Given the description of an element on the screen output the (x, y) to click on. 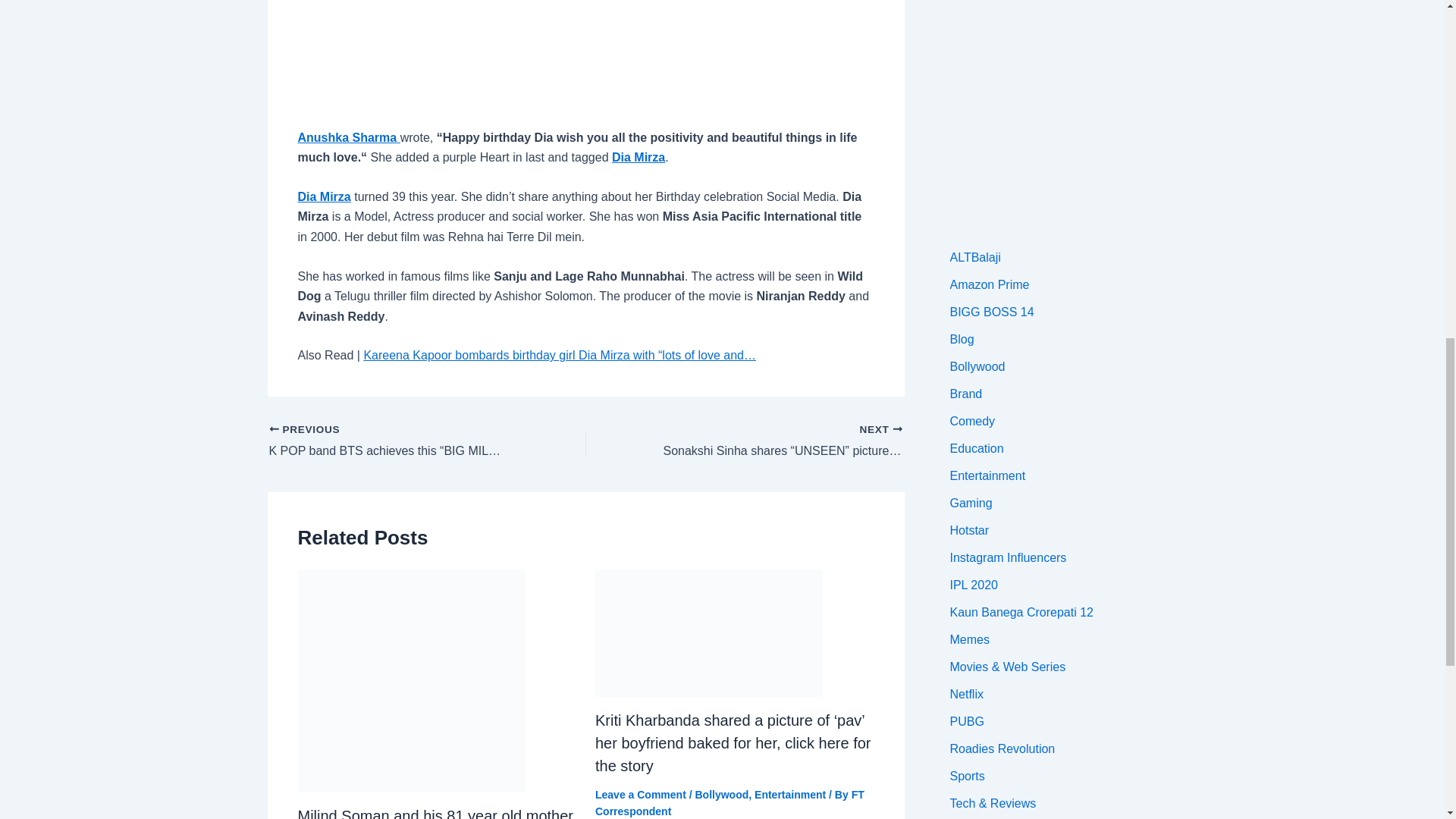
Anushka Sharma (347, 137)
Dia Mirza (638, 156)
Dia Mirza (323, 196)
View all posts by FT Correspondent (729, 802)
